Given the description of an element on the screen output the (x, y) to click on. 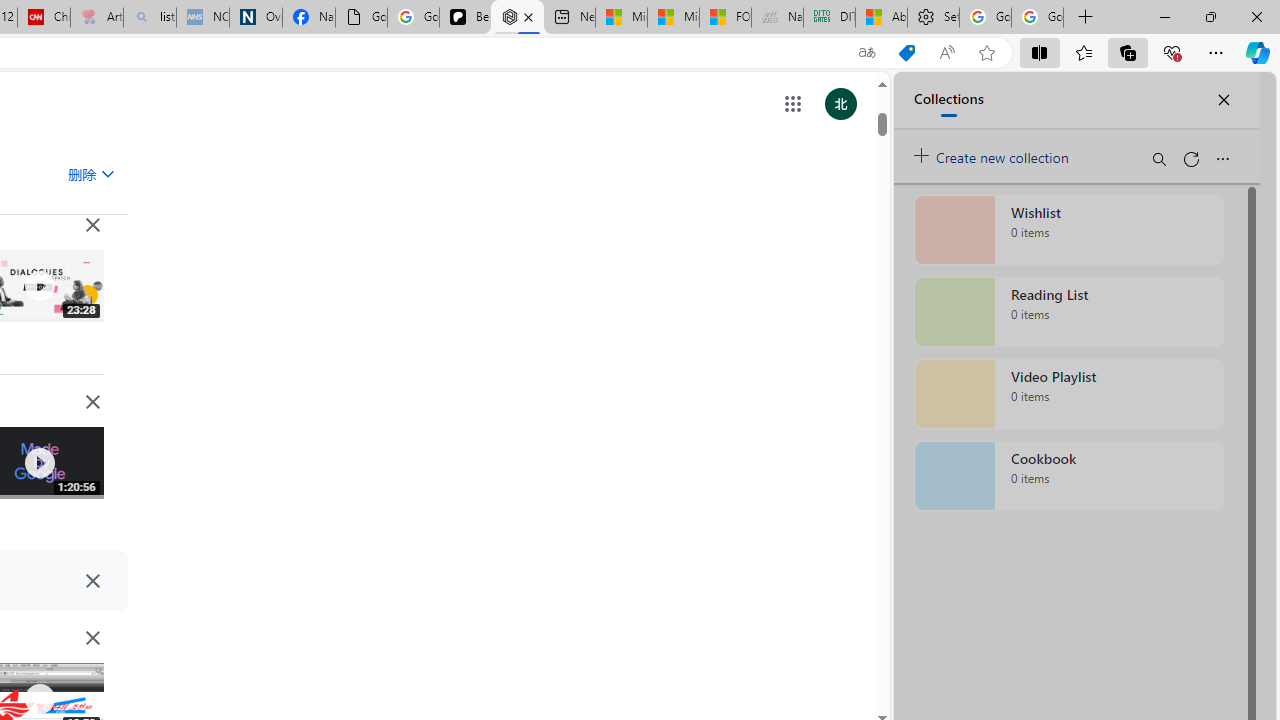
Google Analytics Opt-out Browser Add-on Download Page (360, 17)
Class: asE2Ub NMm5M (107, 173)
Class: TjcpUd NMm5M (91, 637)
This site has coupons! Shopping in Microsoft Edge (906, 53)
Class: IVR0f NMm5M (38, 699)
